Given the description of an element on the screen output the (x, y) to click on. 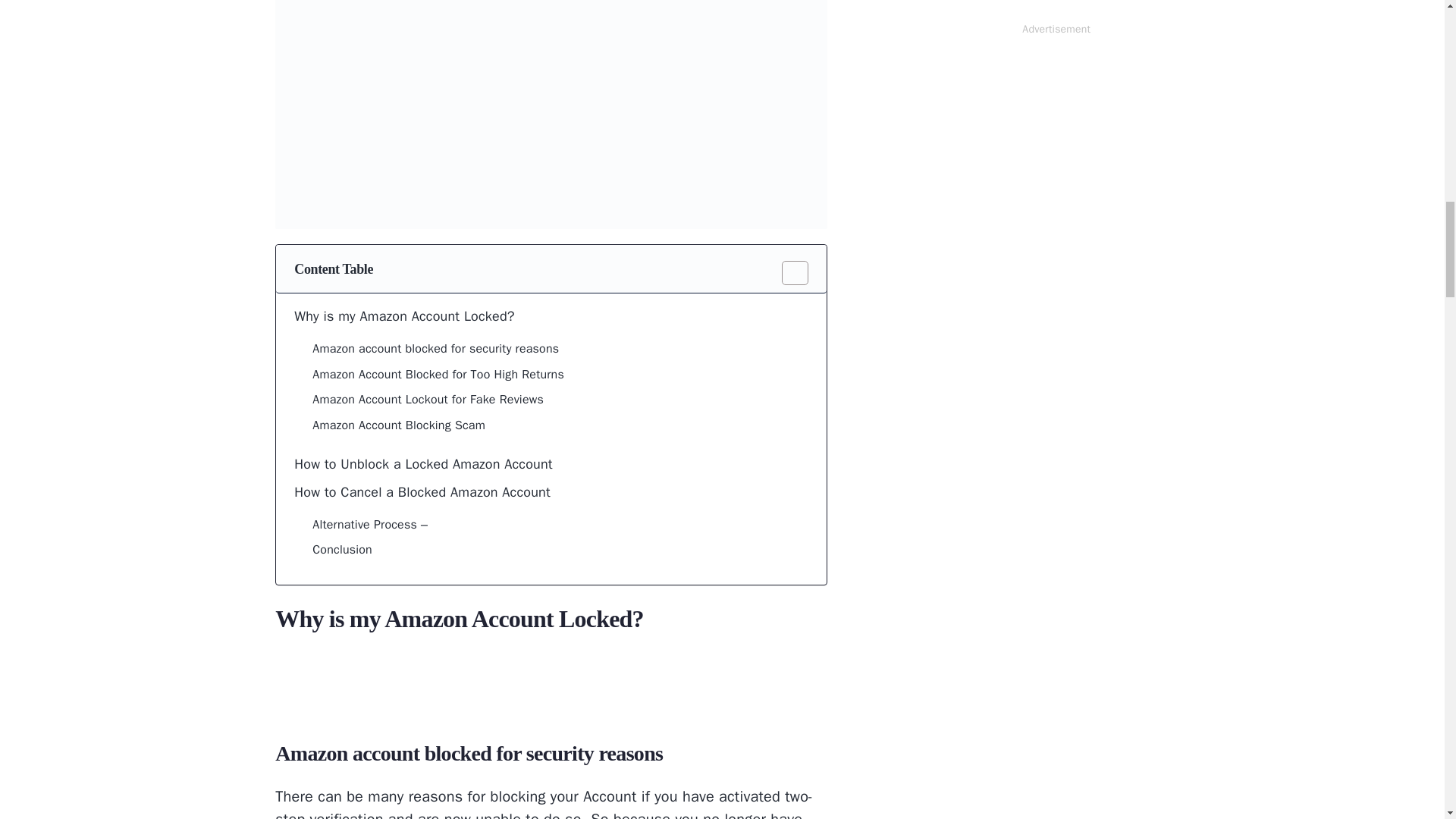
Why is my Amazon Account Locked? (403, 316)
Amazon Account Lockout for Fake Reviews (428, 400)
How to Unblock a Locked Amazon Account (423, 464)
Amazon Account Blocking Scam (398, 425)
Amazon Account Blocked for Too High Returns (438, 374)
Amazon account blocked for security reasons (436, 349)
Amazon account blocked for security reasons (436, 349)
Amazon Account Lockout for Fake Reviews (428, 400)
How to Unblock a Locked Amazon Account (423, 464)
Why is my Amazon Account Locked? (403, 316)
How to Cancel a Blocked Amazon Account (422, 492)
Conclusion (342, 550)
Amazon Account Blocking Scam (398, 425)
Conclusion (342, 550)
Amazon Account Blocked for Too High Returns (438, 374)
